Given the description of an element on the screen output the (x, y) to click on. 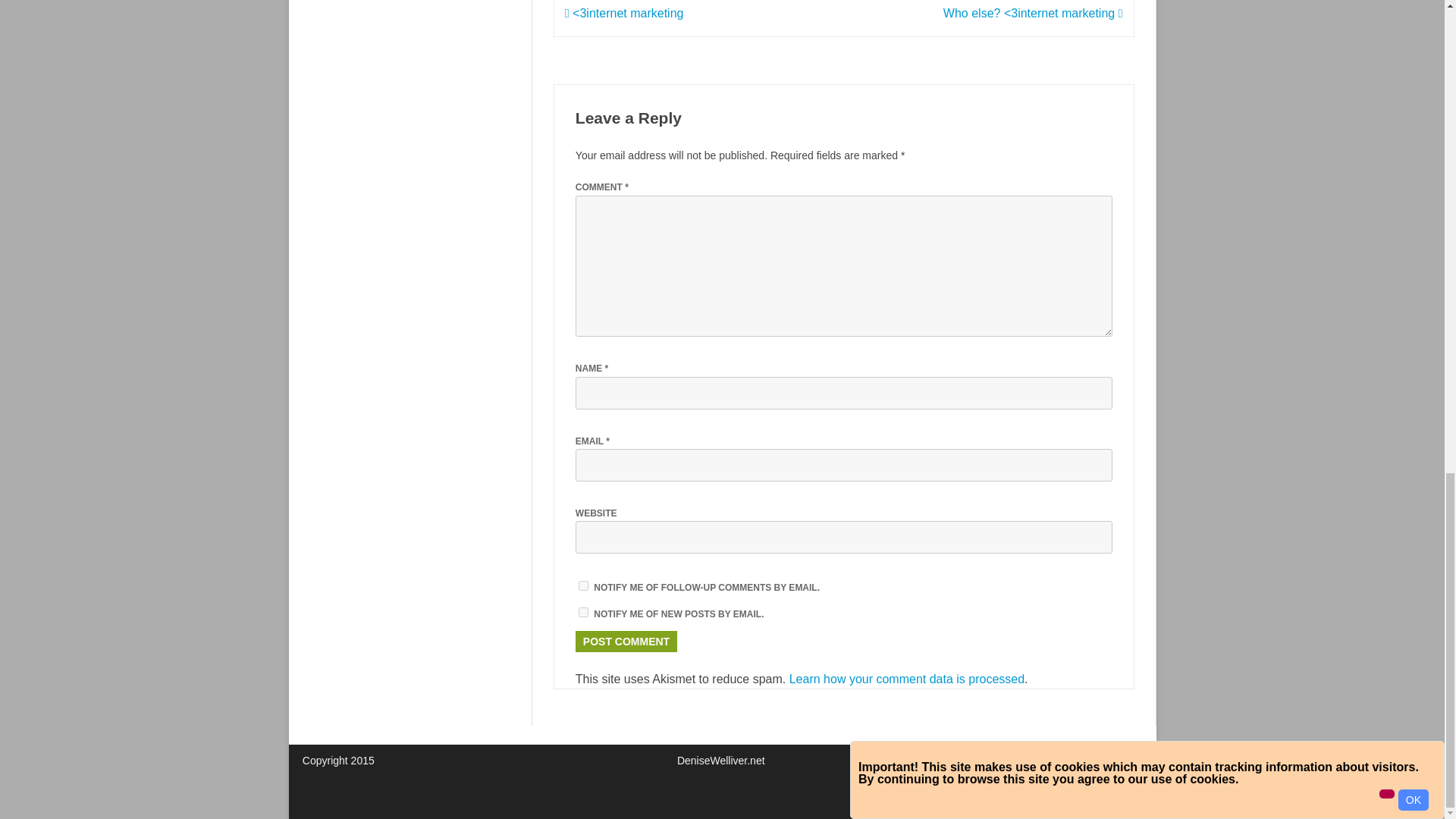
subscribe (583, 585)
Post Comment (626, 640)
subscribe (583, 612)
